Given the description of an element on the screen output the (x, y) to click on. 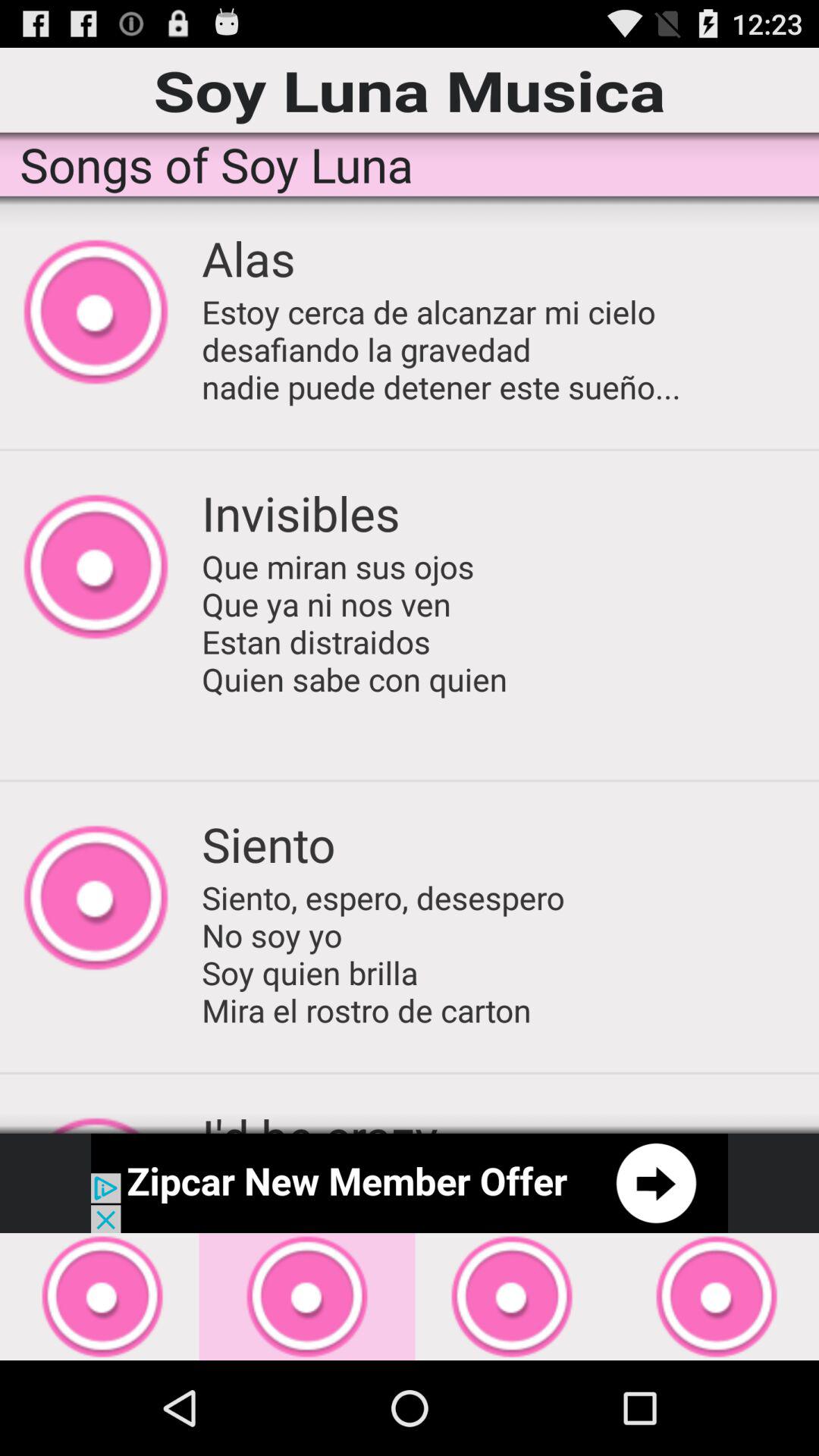
advertisement (409, 1183)
